Given the description of an element on the screen output the (x, y) to click on. 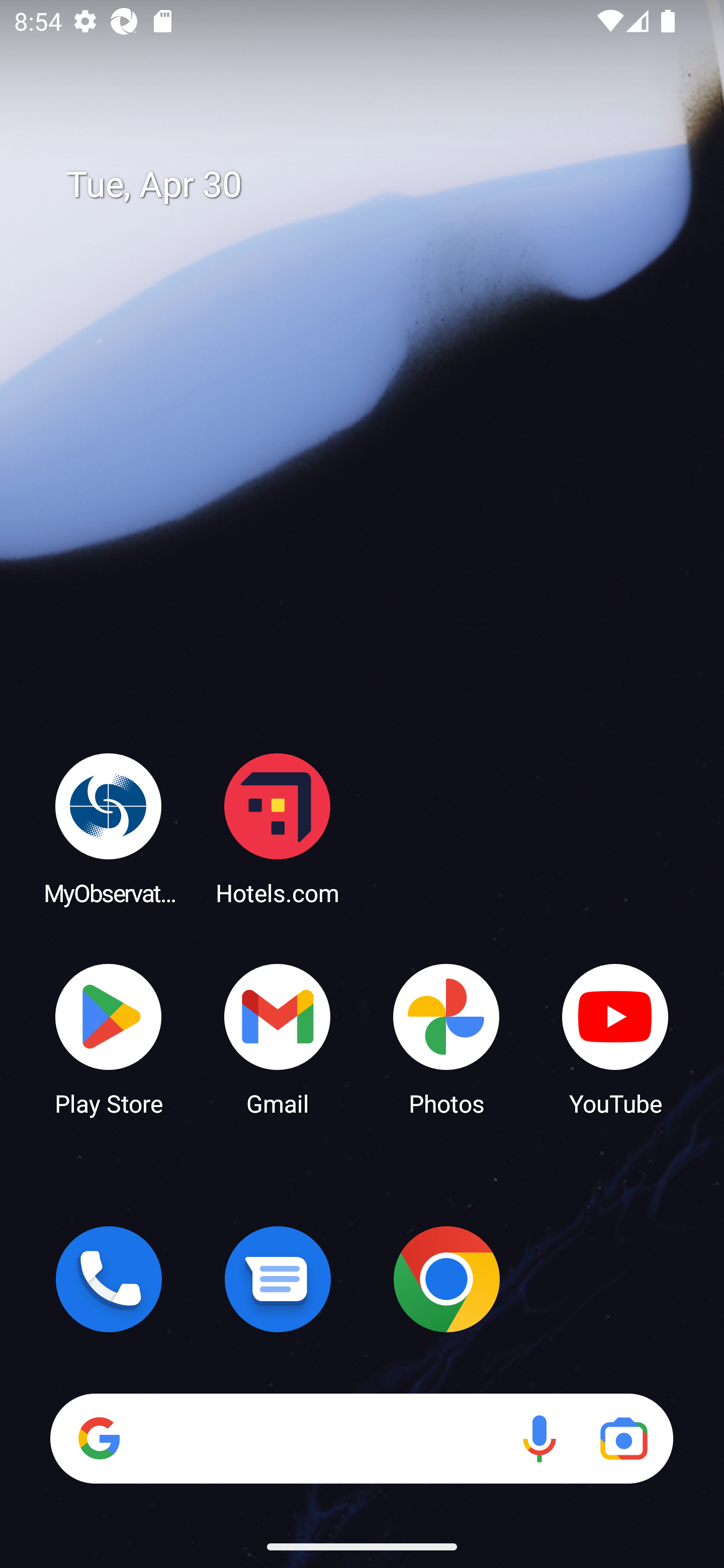
Tue, Apr 30 (375, 184)
MyObservatory (108, 828)
Hotels.com (277, 828)
Play Store (108, 1038)
Gmail (277, 1038)
Photos (445, 1038)
YouTube (615, 1038)
Phone (108, 1279)
Messages (277, 1279)
Chrome (446, 1279)
Voice search (539, 1438)
Google Lens (623, 1438)
